Given the description of an element on the screen output the (x, y) to click on. 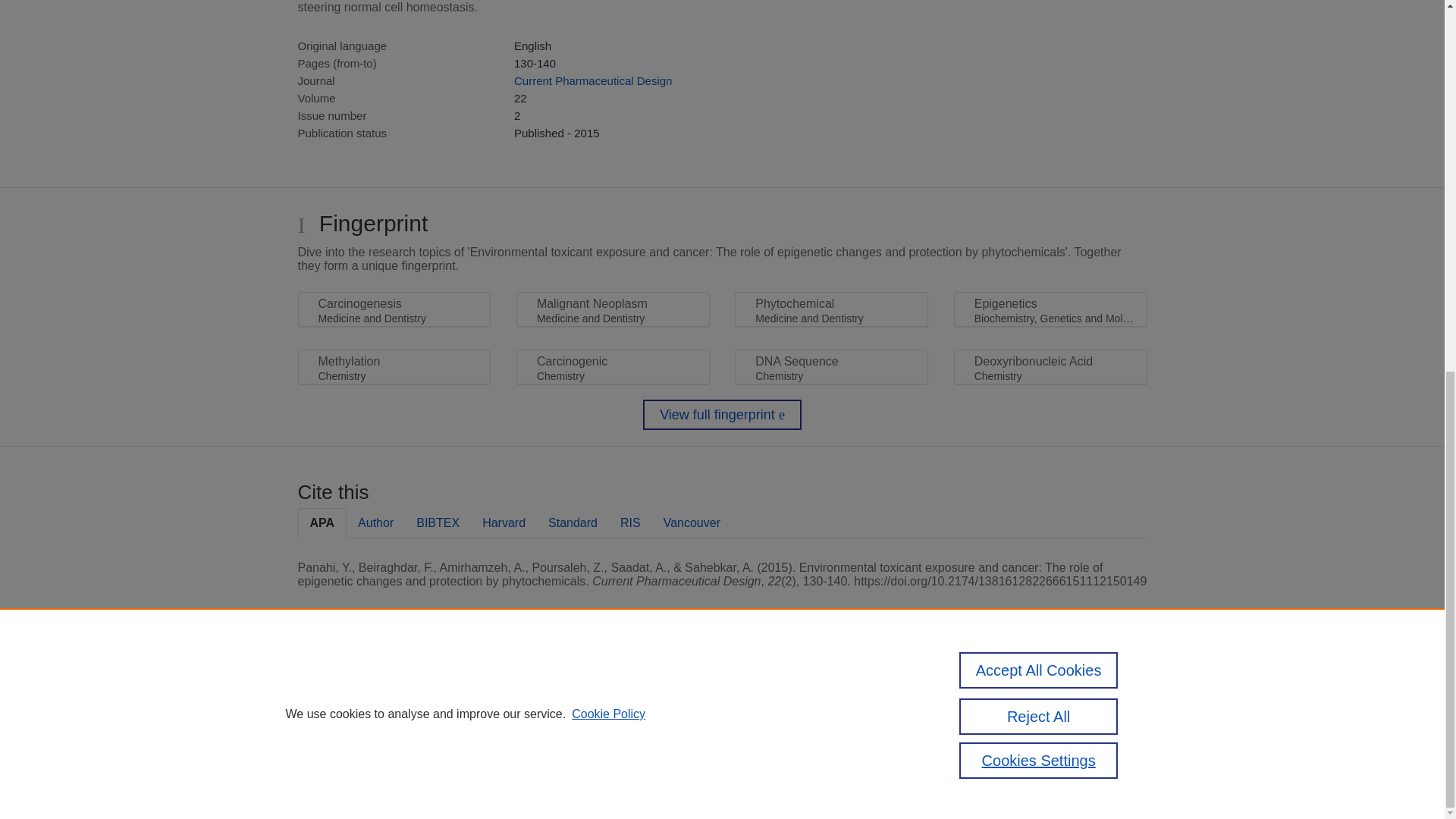
View full fingerprint (722, 414)
use of cookies (796, 739)
Pure (362, 686)
Scopus (394, 686)
Current Pharmaceutical Design (592, 80)
Elsevier B.V. (506, 707)
